Given the description of an element on the screen output the (x, y) to click on. 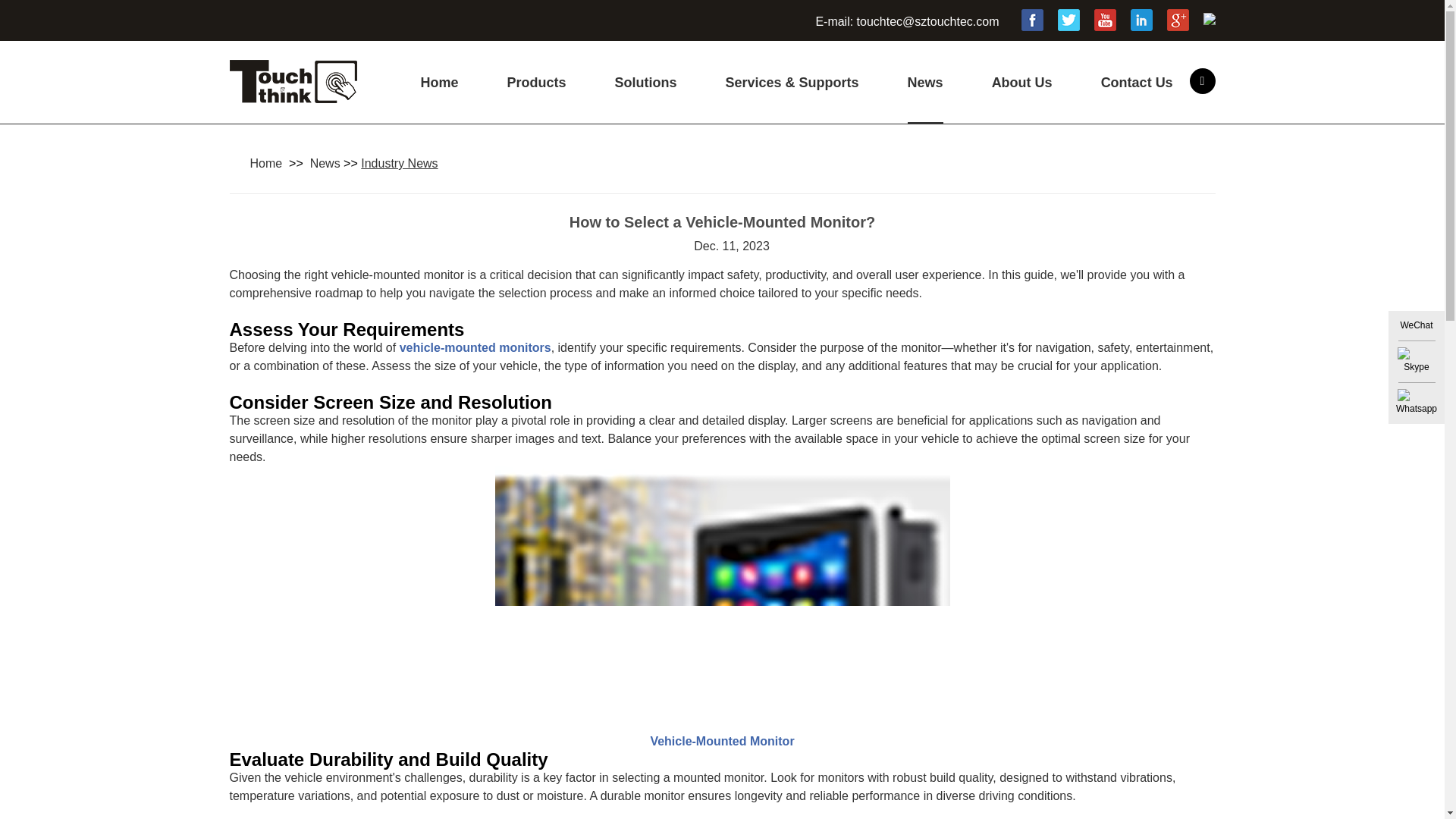
Shenzhen Touch Think Intelligence Co.,Ltd. (292, 81)
Shenzhen Touch Think Intelligence Co.,Ltd. (292, 94)
Products (536, 98)
